Given the description of an element on the screen output the (x, y) to click on. 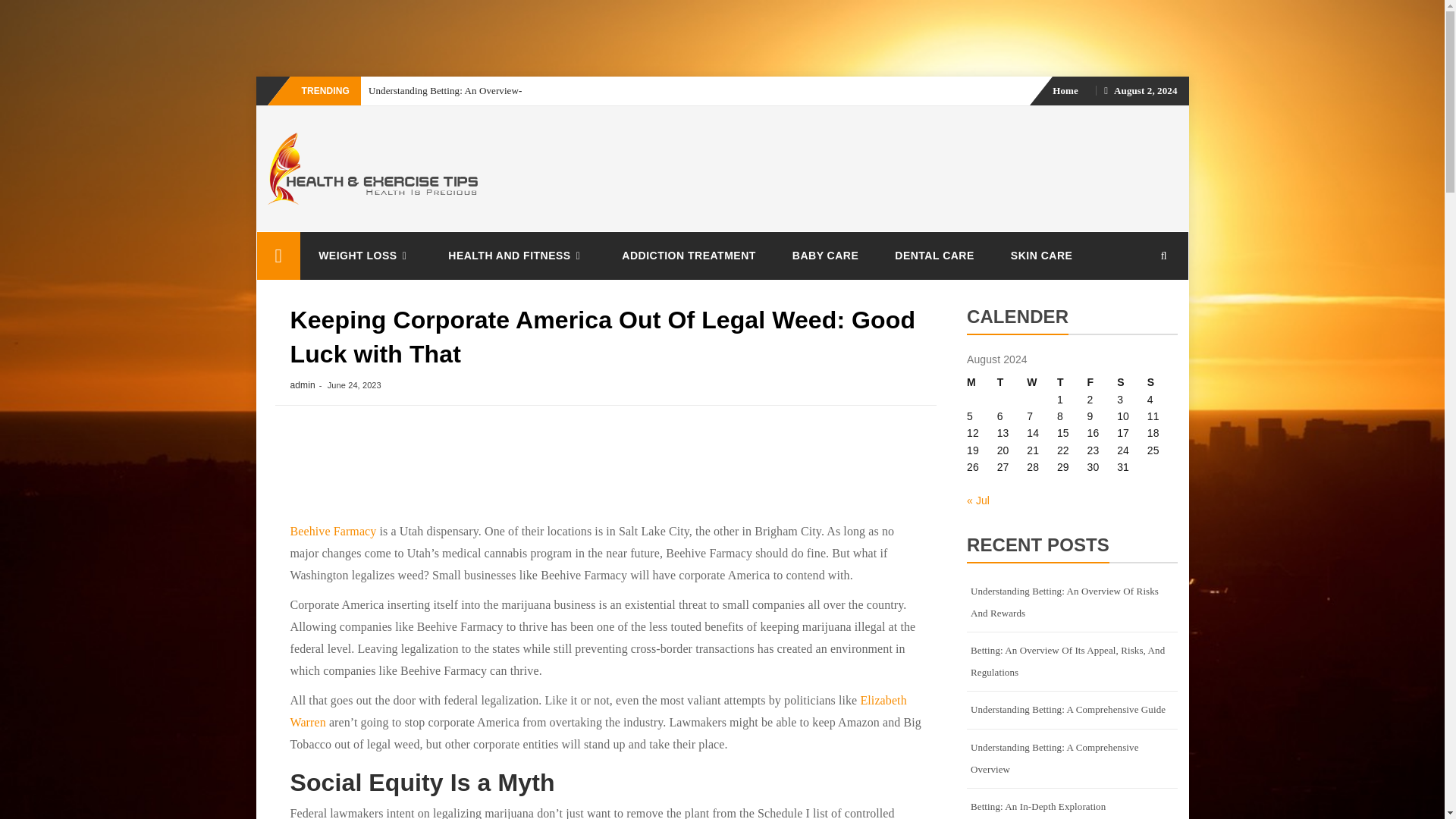
Tuesday (1012, 381)
SKIN CARE (1041, 255)
Elizabeth Warren (597, 710)
WEIGHT LOSS (364, 255)
Advertisement (605, 470)
HEALTH AND FITNESS (516, 255)
DENTAL CARE (934, 255)
Advertisement (265, 36)
Home (1065, 90)
BABY CARE (825, 255)
Beehive Farmacy (332, 530)
ADDICTION TREATMENT (688, 255)
